Given the description of an element on the screen output the (x, y) to click on. 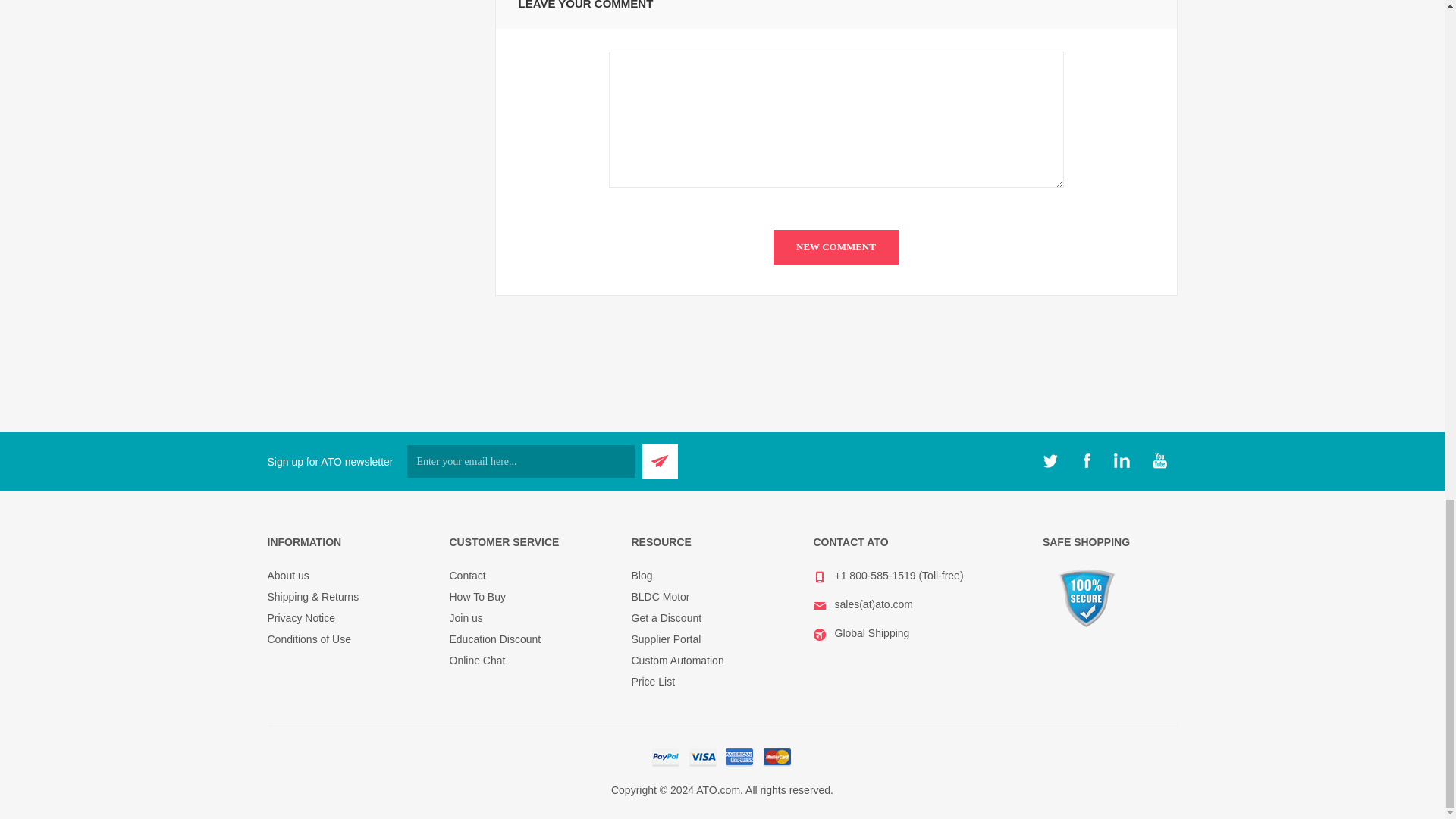
New comment (835, 247)
Send (660, 461)
